Given the description of an element on the screen output the (x, y) to click on. 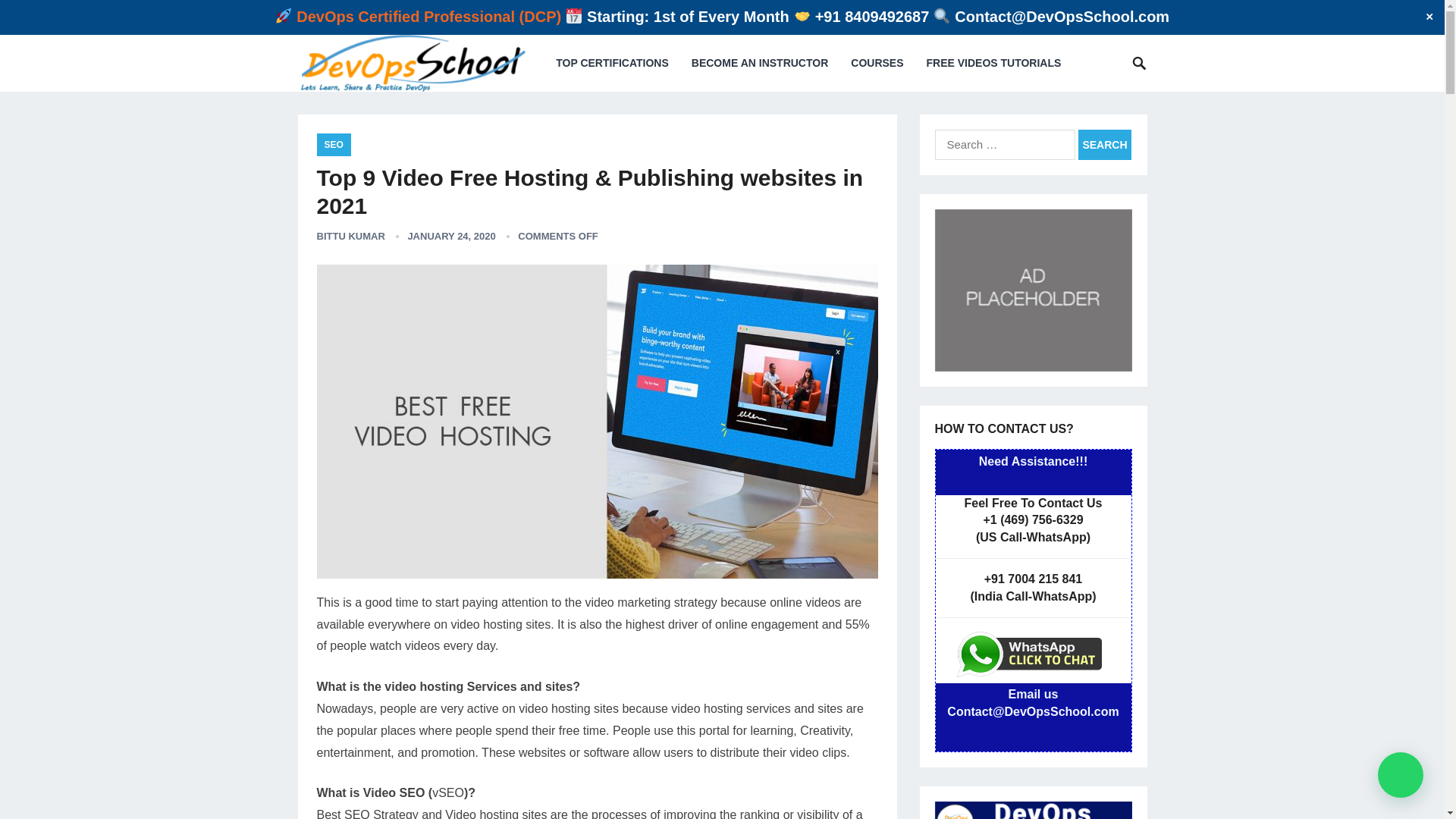
View all posts in SEO (333, 144)
Search (1104, 144)
BECOME AN INSTRUCTOR (759, 63)
Posts by Bittu Kumar (351, 235)
Search (1104, 144)
SEO (333, 144)
COURSES (877, 63)
BITTU KUMAR (351, 235)
TOP CERTIFICATIONS (611, 63)
Search (1104, 144)
FREE VIDEOS TUTORIALS (992, 63)
